Given the description of an element on the screen output the (x, y) to click on. 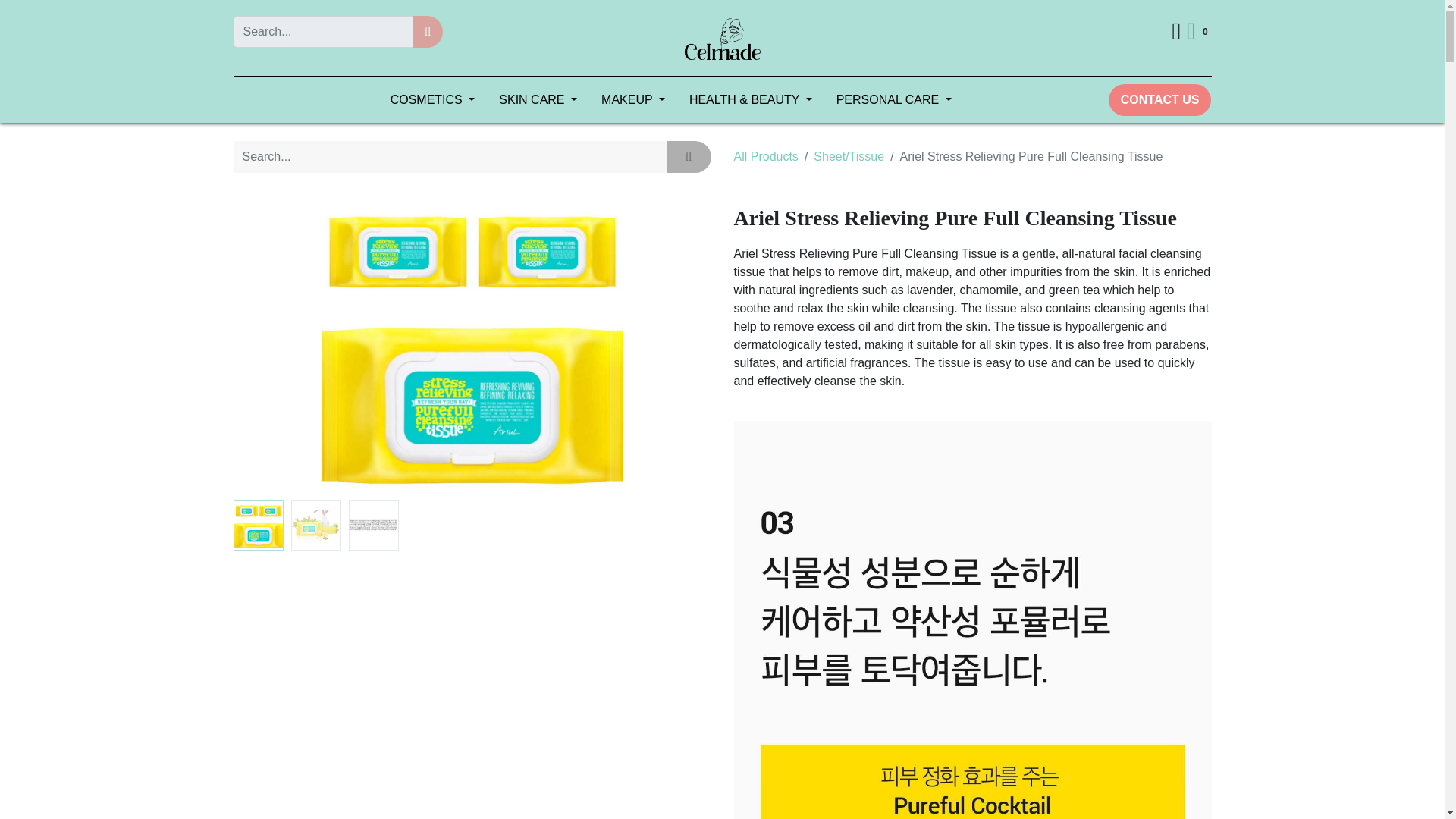
0 (1198, 31)
COSMETICS (432, 100)
Search (428, 31)
MAKEUP (633, 100)
Celmade (722, 38)
Search (688, 156)
SKIN CARE (537, 100)
